Given the description of an element on the screen output the (x, y) to click on. 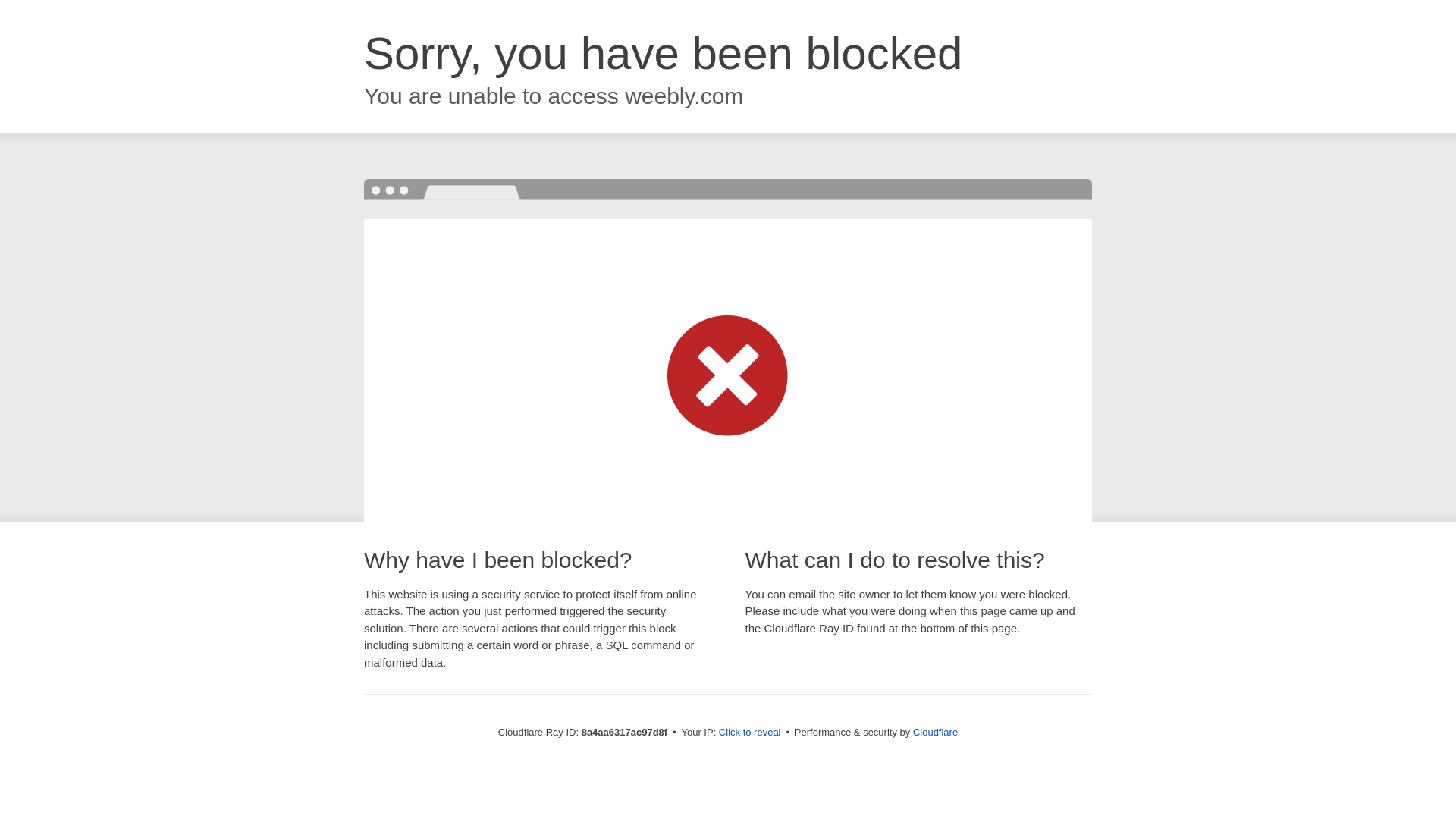
Cloudflare (935, 731)
Click to reveal (749, 732)
